Given the description of an element on the screen output the (x, y) to click on. 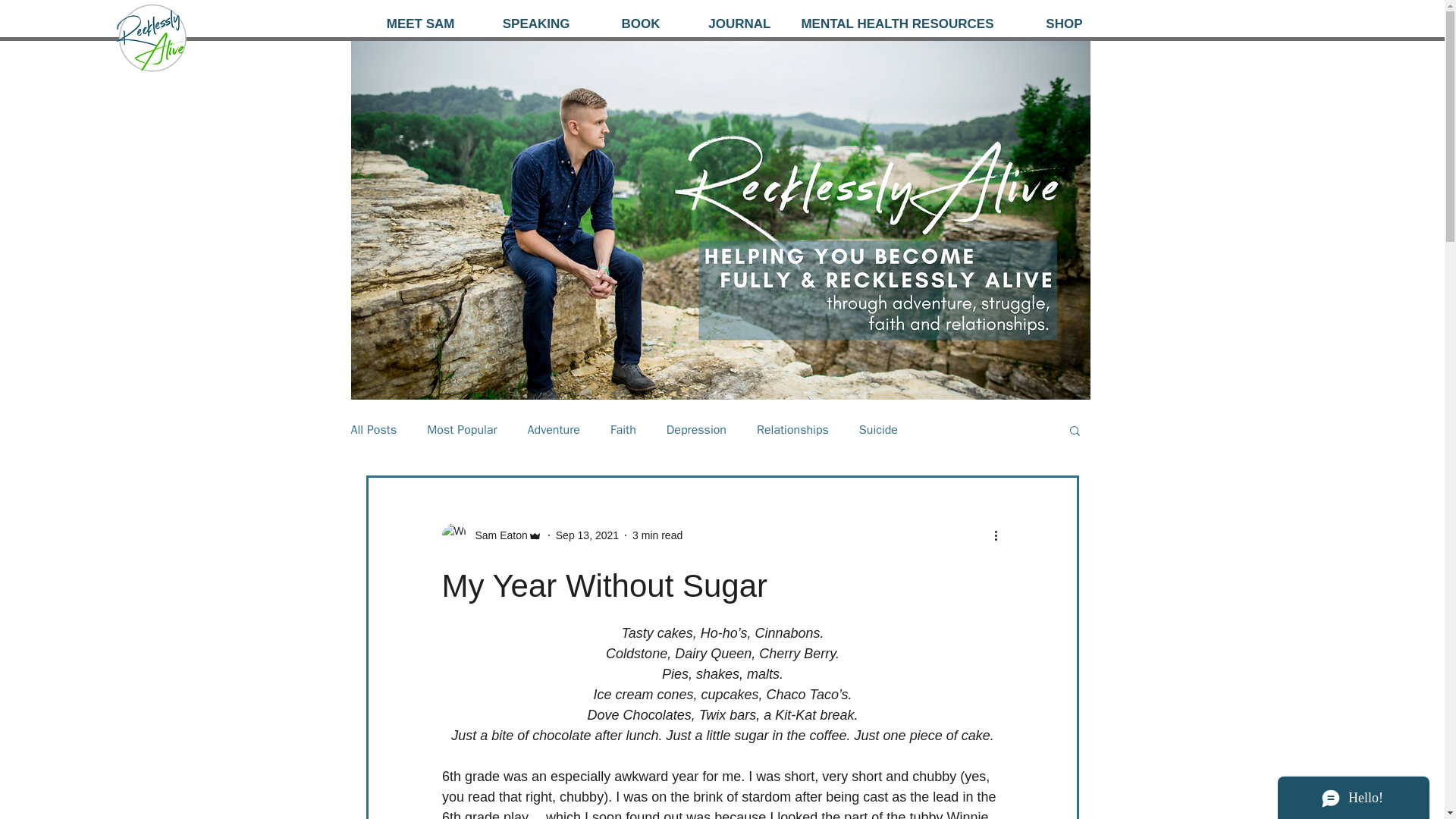
BOOK (625, 24)
MEET SAM (407, 24)
Sam Eaton (496, 535)
Sep 13, 2021 (587, 535)
Most Popular (461, 430)
Faith (623, 430)
JOURNAL (727, 24)
Suicide (878, 430)
Sam Eaton (491, 535)
Adventure (553, 430)
Relationships (792, 430)
SHOP (1050, 24)
3 min read (656, 535)
MENTAL HEALTH RESOURCES (894, 24)
Depression (696, 430)
